Given the description of an element on the screen output the (x, y) to click on. 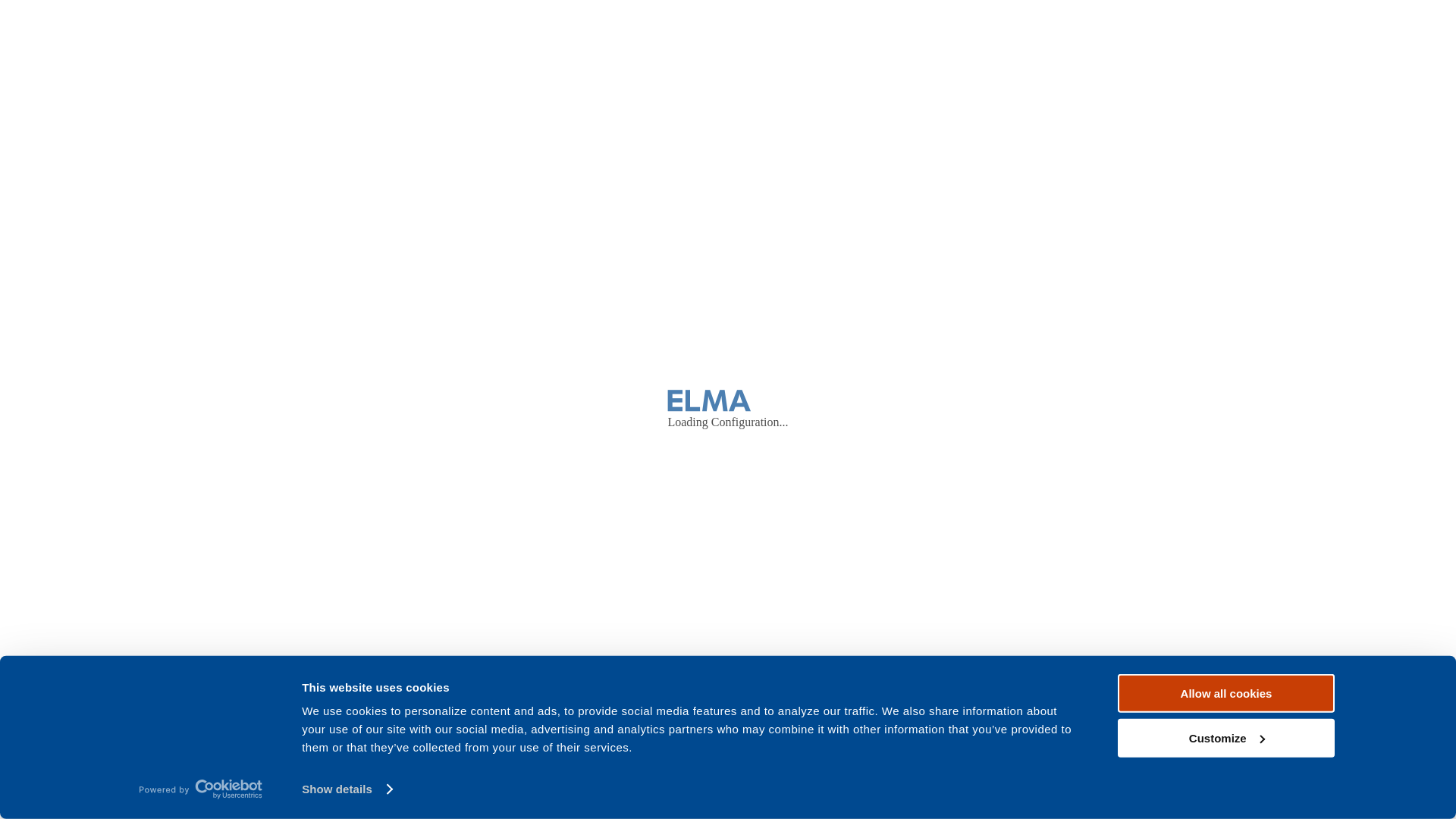
Show details Element type: text (346, 789)
Customize Element type: text (1225, 737)
Allow all cookies Element type: text (1225, 693)
